Given the description of an element on the screen output the (x, y) to click on. 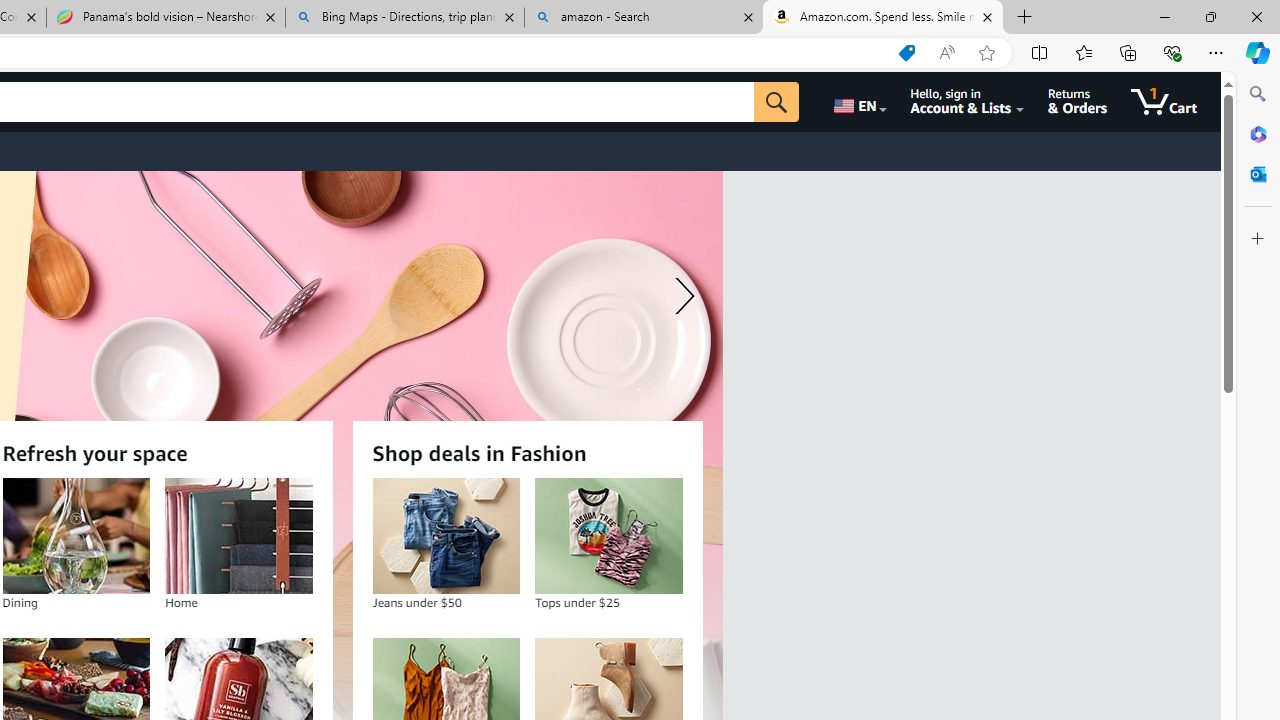
Add this page to favorites (Ctrl+D) (986, 53)
Choose a language for shopping. (858, 101)
Jeans under $50 (445, 536)
1 item in cart (1163, 101)
amazon - Search (643, 17)
Browser essentials (1171, 52)
Next slide (680, 296)
Shopping in Microsoft Edge (906, 53)
Split screen (1039, 52)
Restore (1210, 16)
Go (776, 101)
Outlook (1258, 174)
Copilot (Ctrl+Shift+.) (1258, 52)
Minimize (1164, 16)
